Given the description of an element on the screen output the (x, y) to click on. 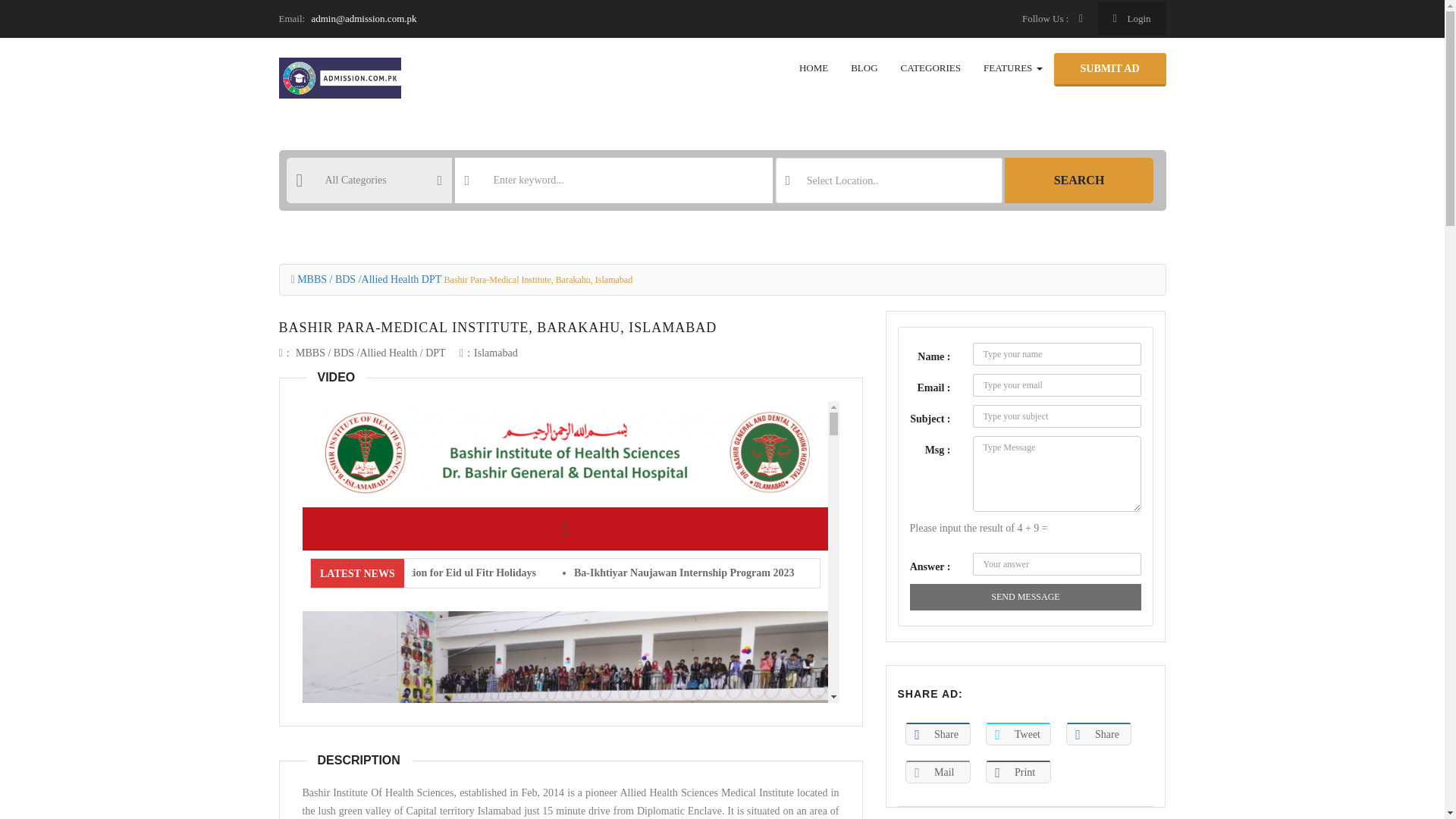
SUBMIT AD (1110, 69)
Blog (864, 68)
CATEGORIES (930, 68)
DPT (435, 352)
DPT (431, 279)
Features (1013, 68)
BASHIR PARA-MEDICAL INSTITUTE, BARAKAHU, ISLAMABAD (498, 327)
Home (813, 68)
Islamabad (496, 352)
BLOG (864, 68)
Login (1131, 18)
Categories (930, 68)
HOME (813, 68)
SEARCH (1078, 180)
Select Location.. (888, 180)
